Given the description of an element on the screen output the (x, y) to click on. 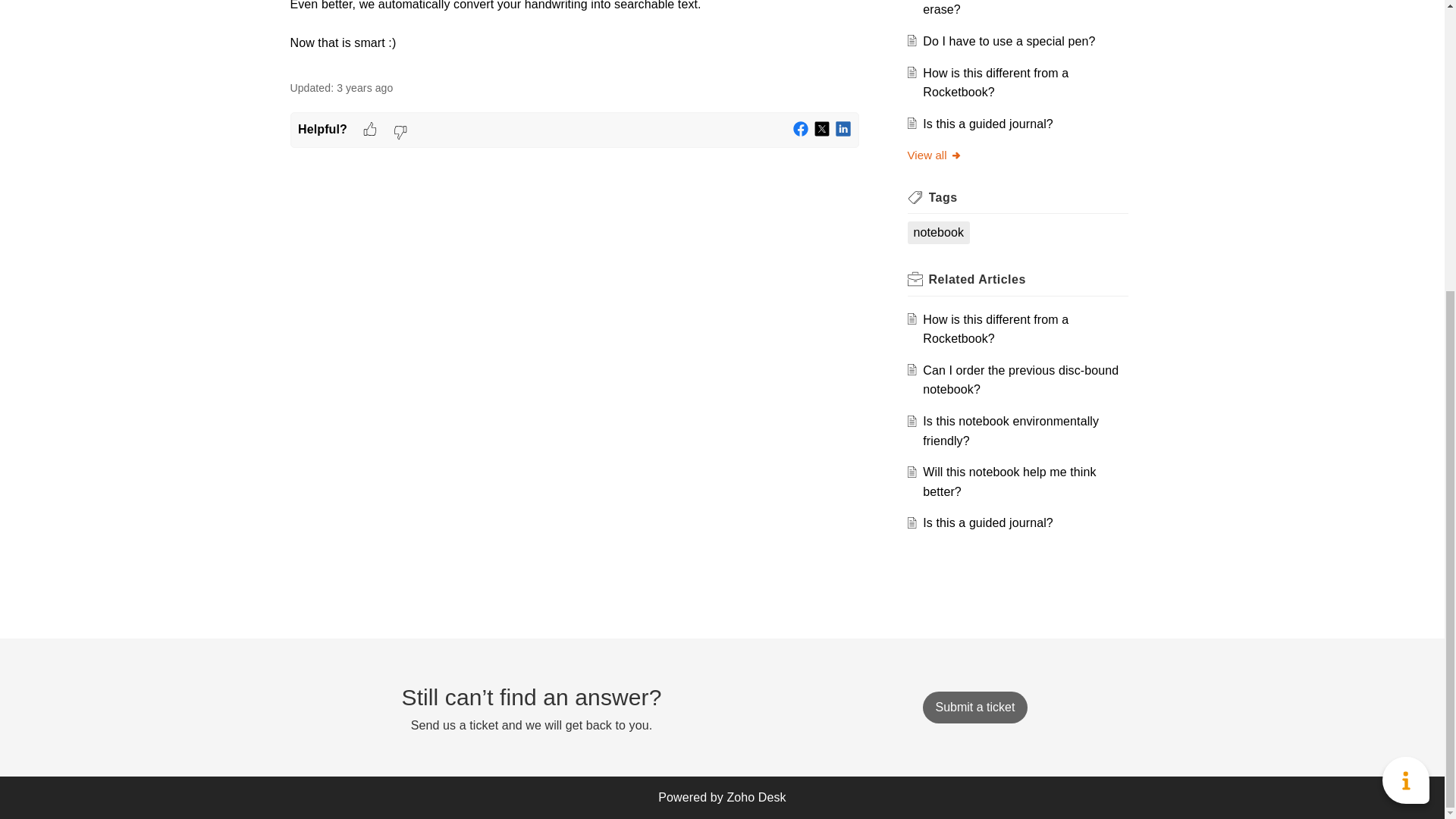
LinkedIn (842, 128)
14 Dec 2020 11:38 PM (364, 87)
How is this different from a Rocketbook? (995, 82)
Submit a ticket (974, 707)
Zoho Desk (756, 797)
Facebook (800, 128)
Is this a guided journal? (987, 123)
Will this notebook help me think better? (1009, 481)
notebook (937, 232)
Do I have to use a special pen? (1008, 41)
View all (933, 154)
Can I order the previous disc-bound notebook? (1020, 379)
Is this notebook environmentally friendly? (1011, 430)
Submit a ticket (974, 707)
Why don't the pages "magically" erase? (1010, 8)
